Given the description of an element on the screen output the (x, y) to click on. 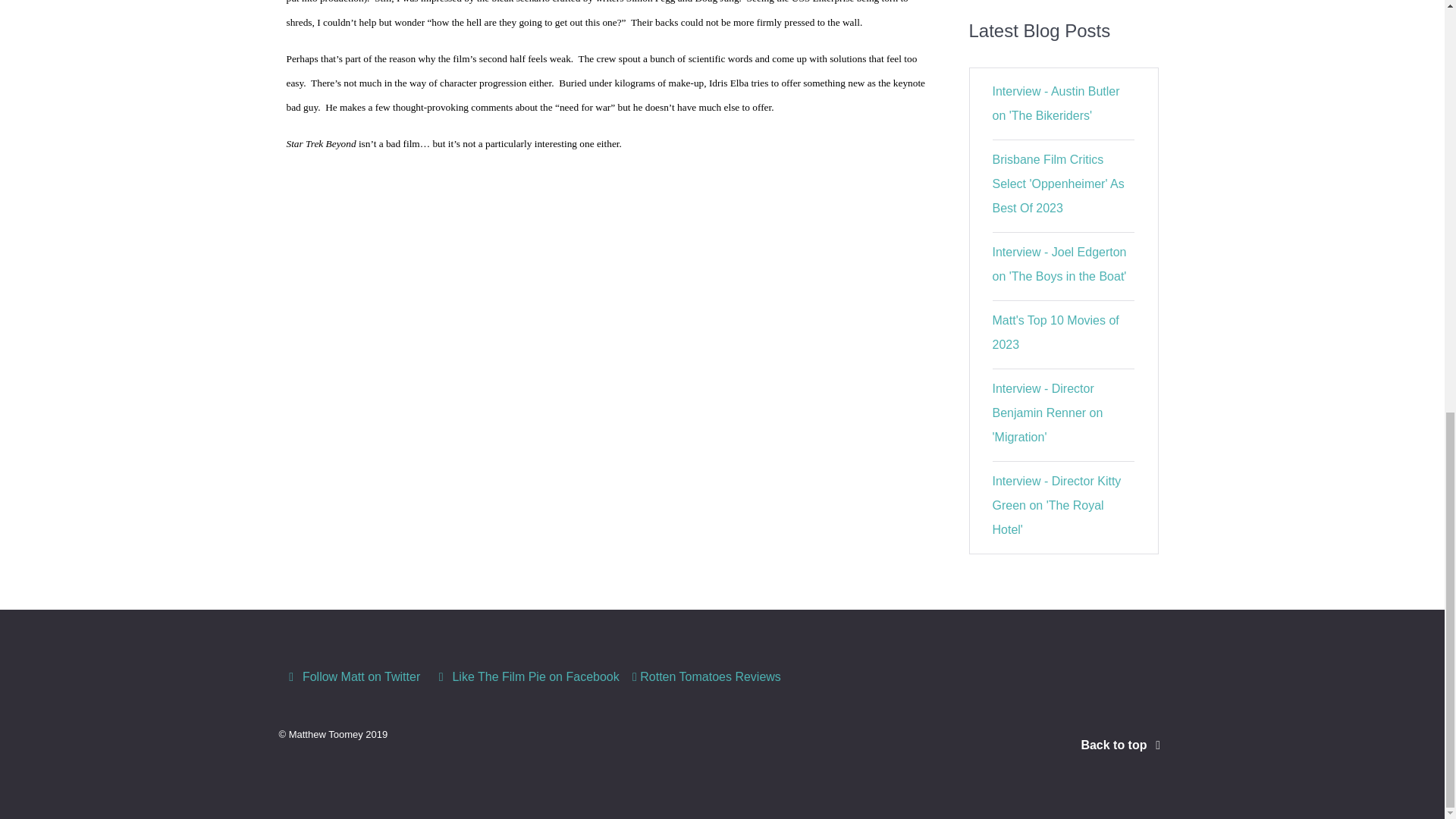
Rotten Tomatoes Reviews (706, 676)
Interview - Director Kitty Green on 'The Royal Hotel' (1056, 505)
Interview - Austin Butler on 'The Bikeriders' (1055, 103)
Interview - Joel Edgerton on 'The Boys in the Boat' (1059, 263)
Matt's Top 10 Movies of 2023 (1055, 332)
Follow Matt on Twitter (354, 676)
Interview - Director Benjamin Renner on 'Migration' (1047, 412)
Follow Matt on Twitter (354, 676)
Back to top (1123, 744)
Brisbane Film Critics Select 'Oppenheimer' As Best Of 2023 (1058, 183)
Rotten Tomatoes Reviews (706, 676)
Like The Film Pie on Facebook (527, 676)
Like The Film Pie on Facebook (527, 676)
